Given the description of an element on the screen output the (x, y) to click on. 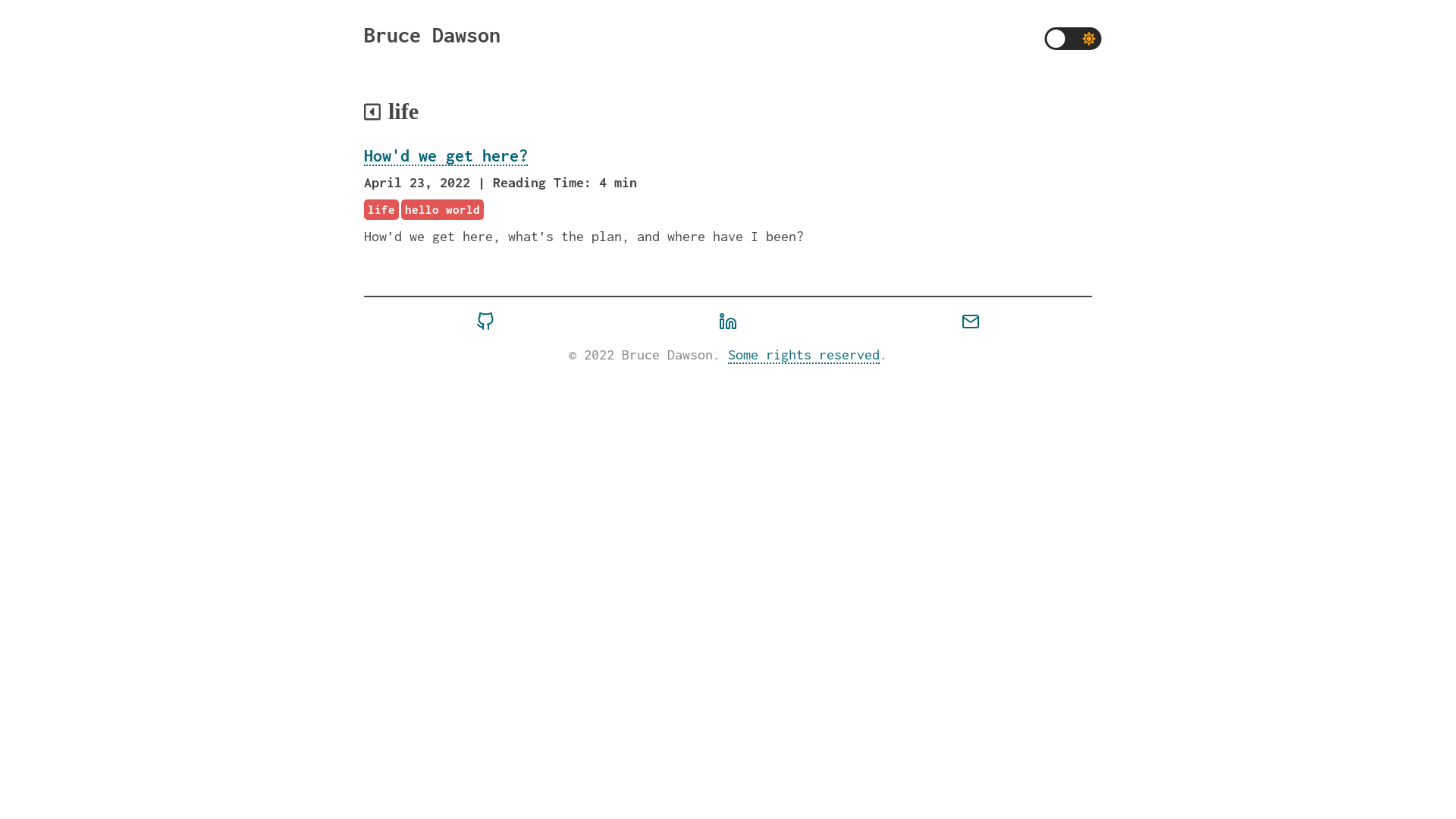
Linkedin Element type: hover (727, 324)
Bruce Dawson Element type: text (432, 34)
Github Element type: hover (485, 324)
hello world Element type: text (442, 209)
Some rights reserved Element type: text (803, 355)
How'd we get here? Element type: text (445, 156)
Email Element type: hover (970, 324)
life Element type: text (381, 209)
